Given the description of an element on the screen output the (x, y) to click on. 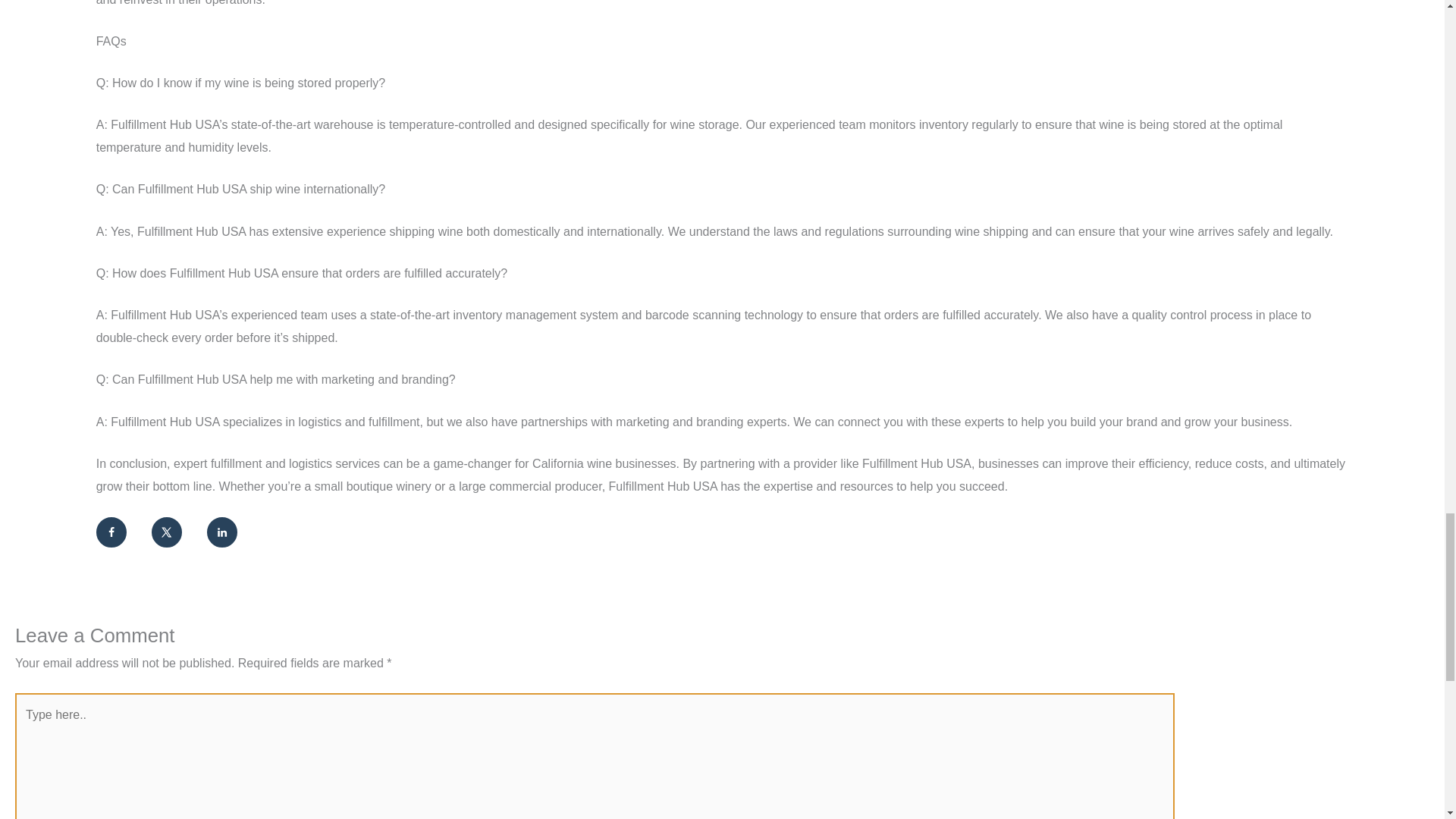
Share on LinkedIn (221, 531)
Share on X (166, 531)
Share on Facebook (111, 531)
